Given the description of an element on the screen output the (x, y) to click on. 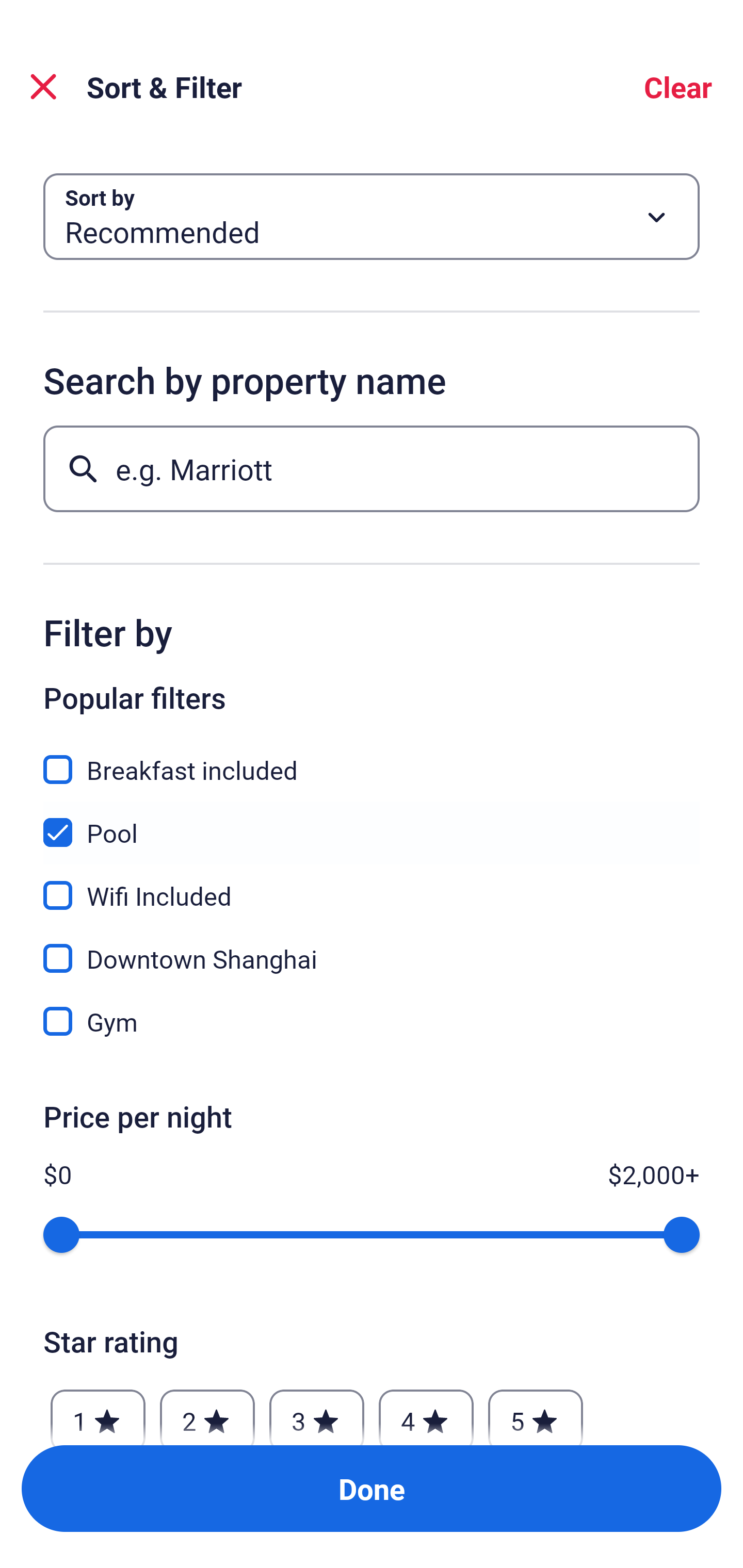
Close Sort and Filter (43, 86)
Clear (677, 86)
Sort by Button Recommended (371, 217)
e.g. Marriott Button (371, 468)
Breakfast included, Breakfast included (371, 757)
Pool, Pool (371, 821)
Wifi Included, Wifi Included (371, 883)
Downtown Shanghai, Downtown Shanghai (371, 946)
Gym, Gym (371, 1021)
1 (97, 1411)
2 (206, 1411)
3 (316, 1411)
4 (426, 1411)
5 (535, 1411)
Apply and close Sort and Filter Done (371, 1488)
